Given the description of an element on the screen output the (x, y) to click on. 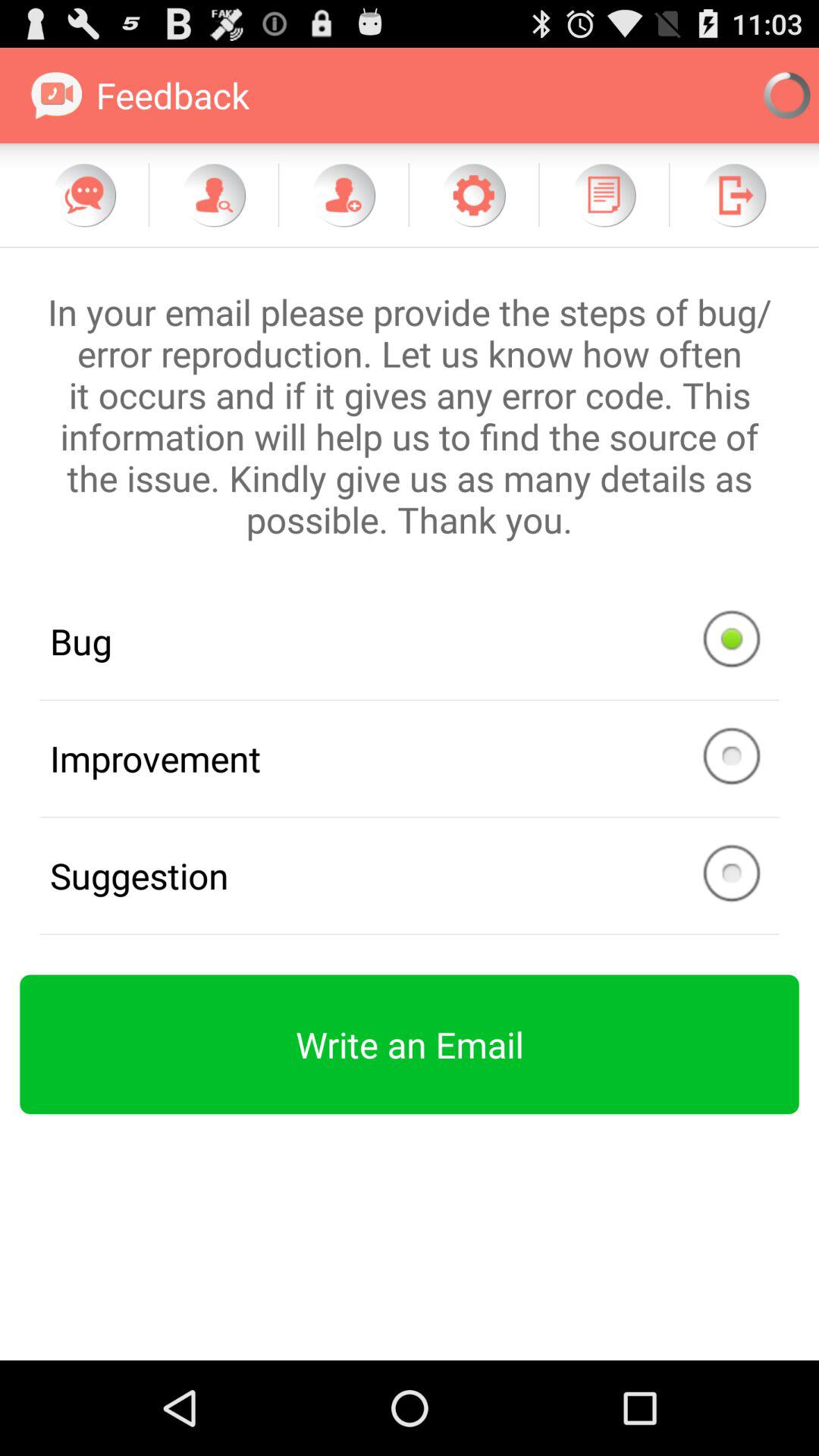
go to messaging (84, 194)
